Given the description of an element on the screen output the (x, y) to click on. 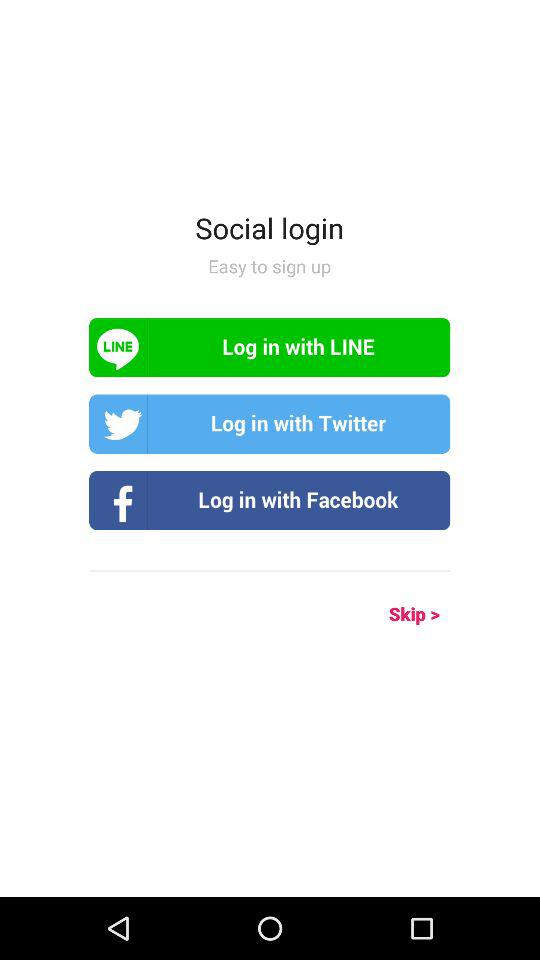
flip to skip > button (392, 614)
